Given the description of an element on the screen output the (x, y) to click on. 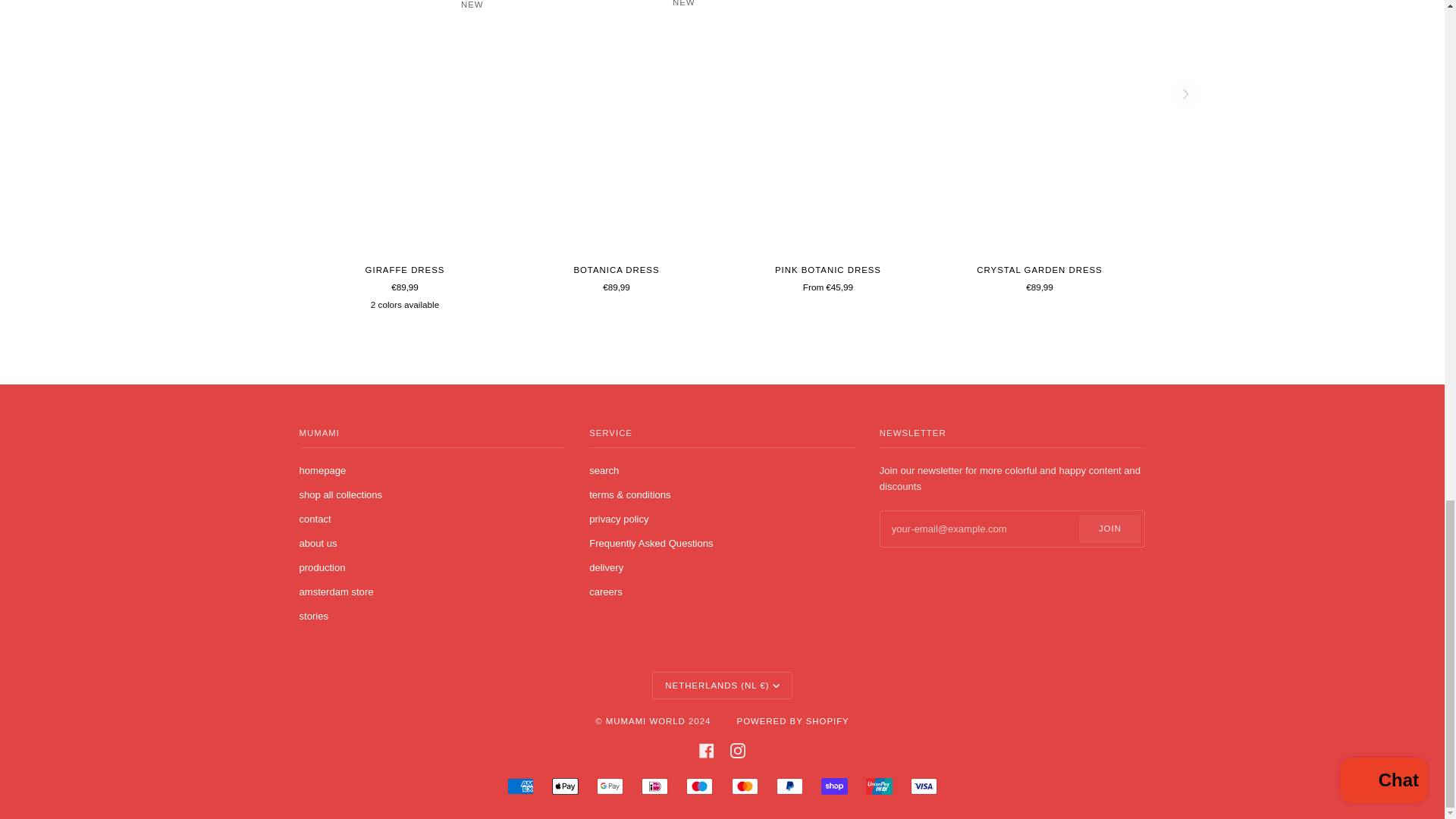
Instagram (737, 750)
SHOP PAY (834, 786)
APPLE PAY (564, 786)
MASTERCARD (745, 786)
Facebook (706, 750)
GOOGLE PAY (609, 786)
IDEAL (655, 786)
MAESTRO (699, 786)
AMERICAN EXPRESS (520, 786)
PAYPAL (789, 786)
